Given the description of an element on the screen output the (x, y) to click on. 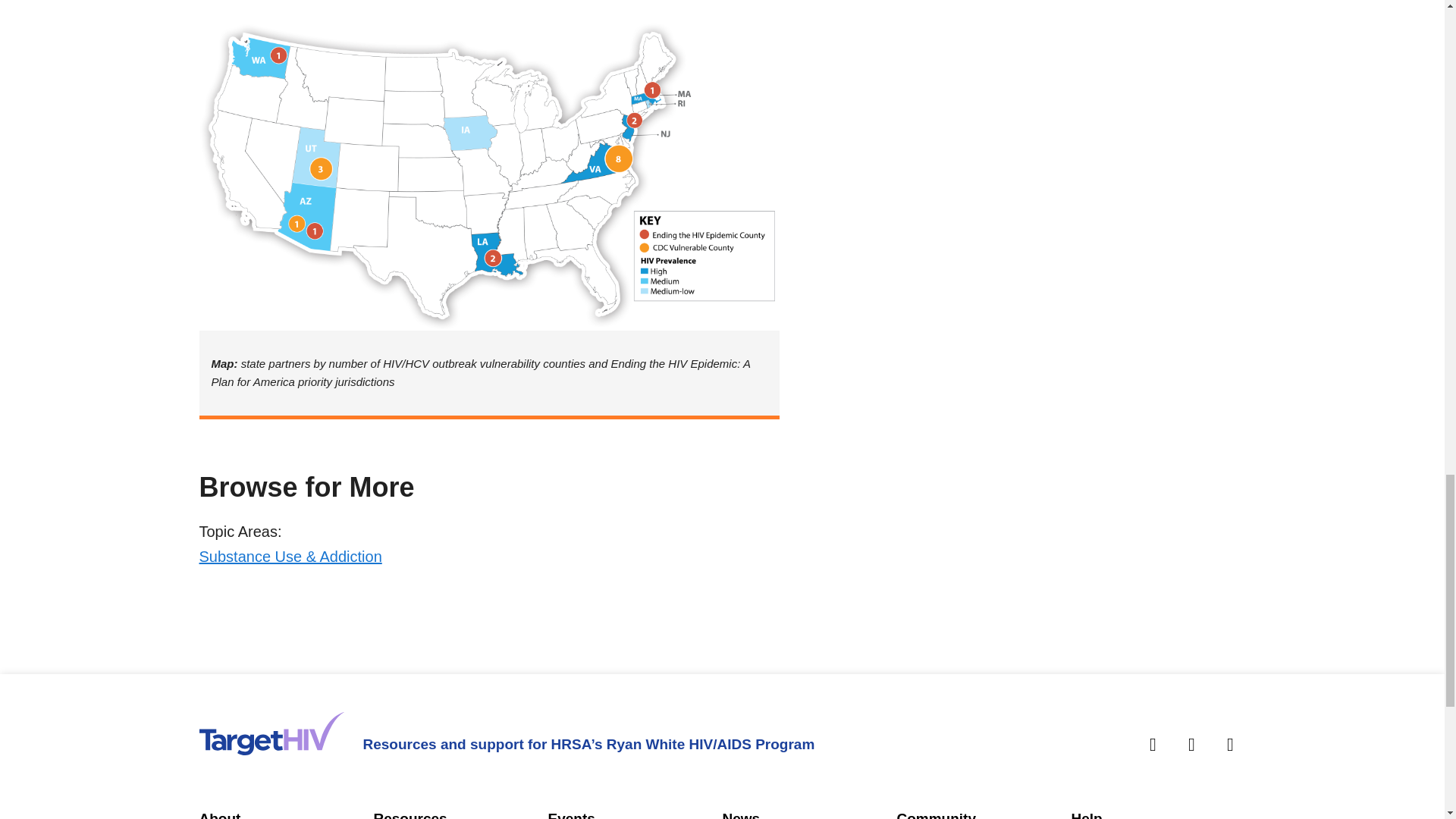
Home (270, 733)
